Given the description of an element on the screen output the (x, y) to click on. 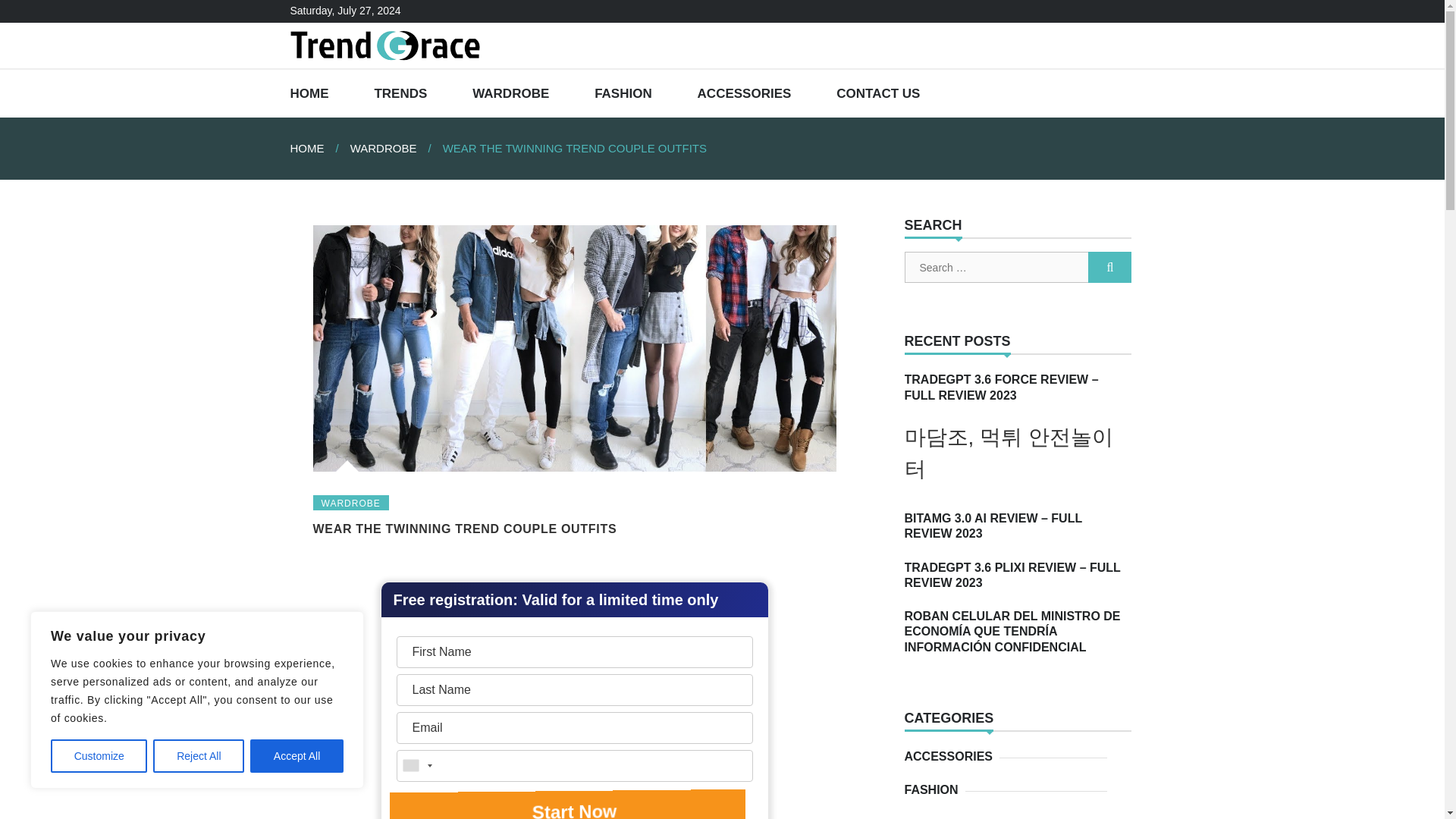
Customize (98, 756)
CONTACT US (877, 93)
WARDROBE (350, 502)
Reject All (198, 756)
FASHION (623, 93)
ACCESSORIES (744, 93)
ACCESSORIES (951, 756)
TRENDS (400, 93)
HOME (319, 147)
WARDROBE (396, 147)
WARDROBE (509, 93)
Accept All (296, 756)
Start Now (574, 804)
